Given the description of an element on the screen output the (x, y) to click on. 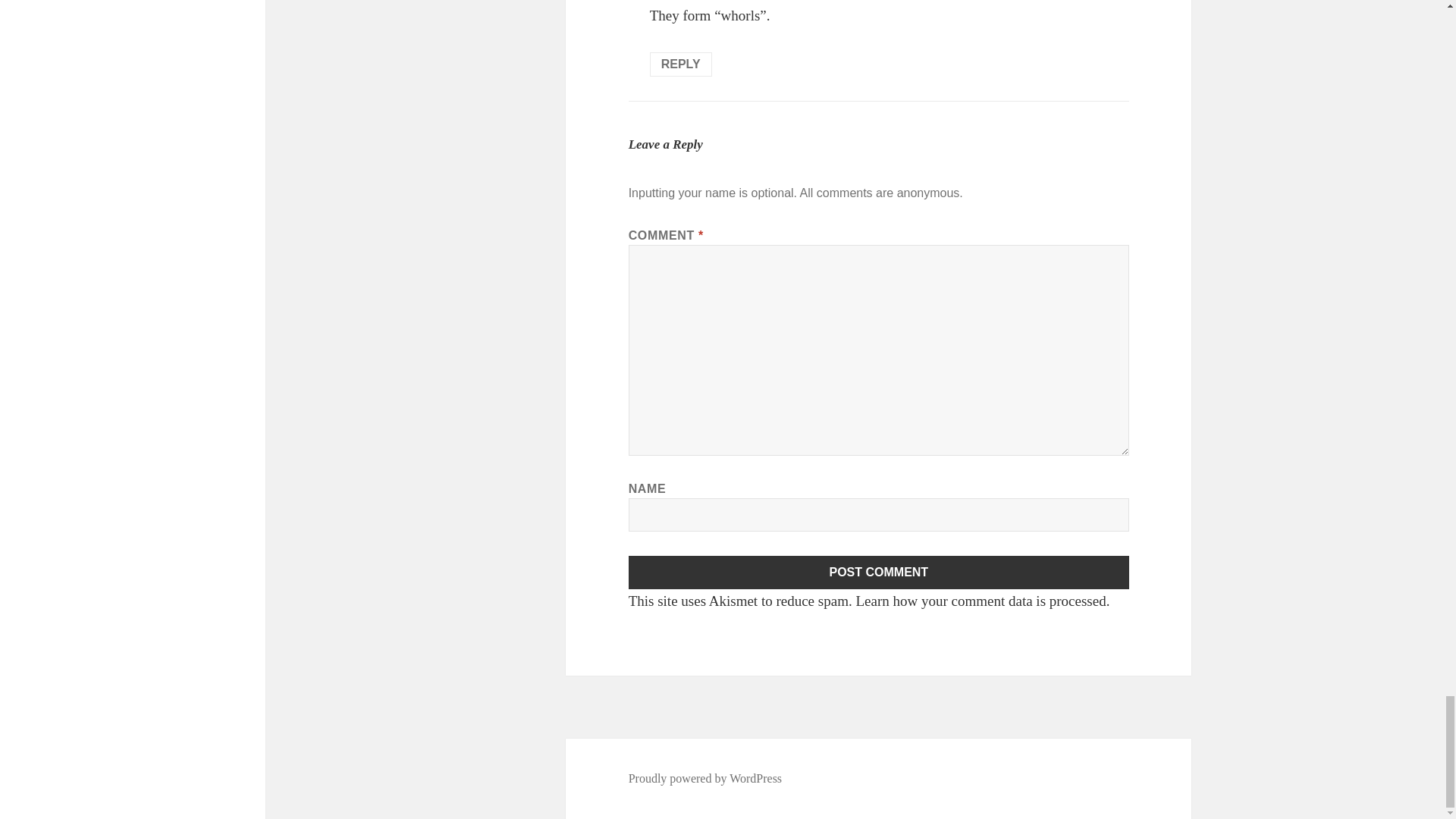
Post Comment (878, 572)
